Given the description of an element on the screen output the (x, y) to click on. 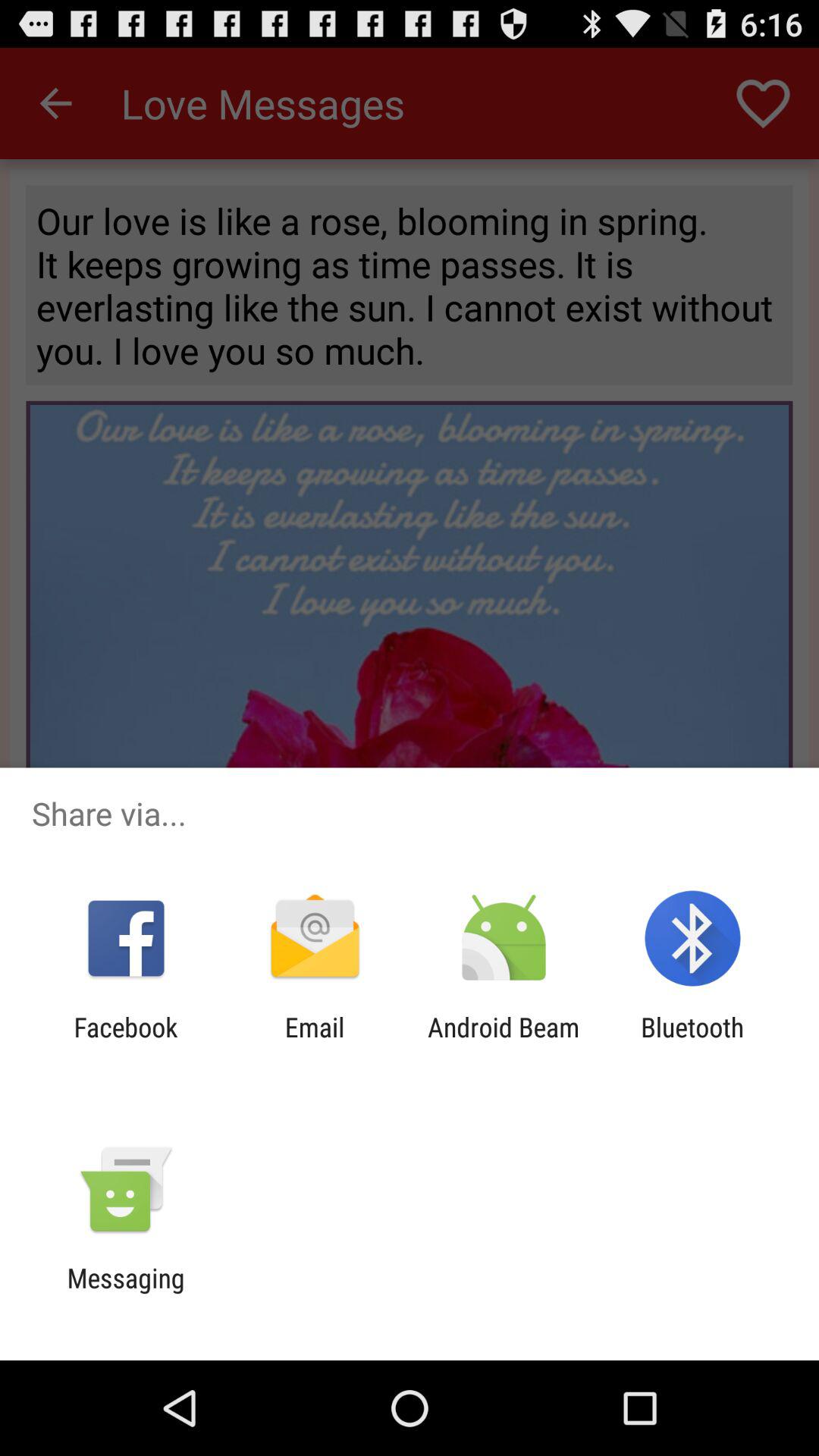
scroll until the facebook app (125, 1042)
